Given the description of an element on the screen output the (x, y) to click on. 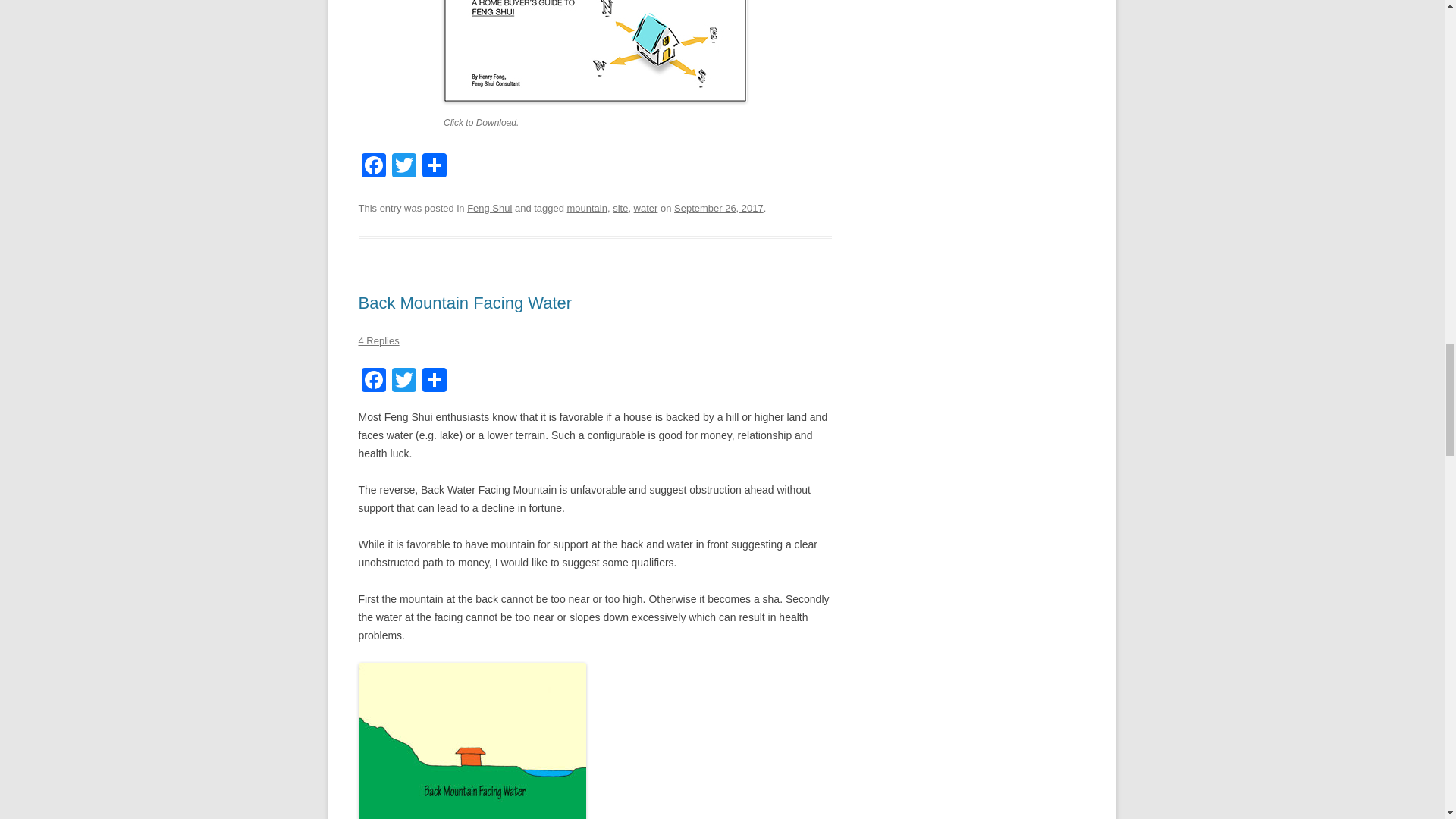
10:29 am (718, 207)
Back Mountain Facing Water (465, 302)
Twitter (403, 166)
Twitter (403, 381)
Twitter (403, 166)
4 Replies (378, 340)
water (645, 207)
Facebook (373, 166)
Share (433, 166)
Share (433, 381)
Feng Shui (489, 207)
Facebook (373, 381)
September 26, 2017 (718, 207)
Facebook (373, 381)
site (619, 207)
